Given the description of an element on the screen output the (x, y) to click on. 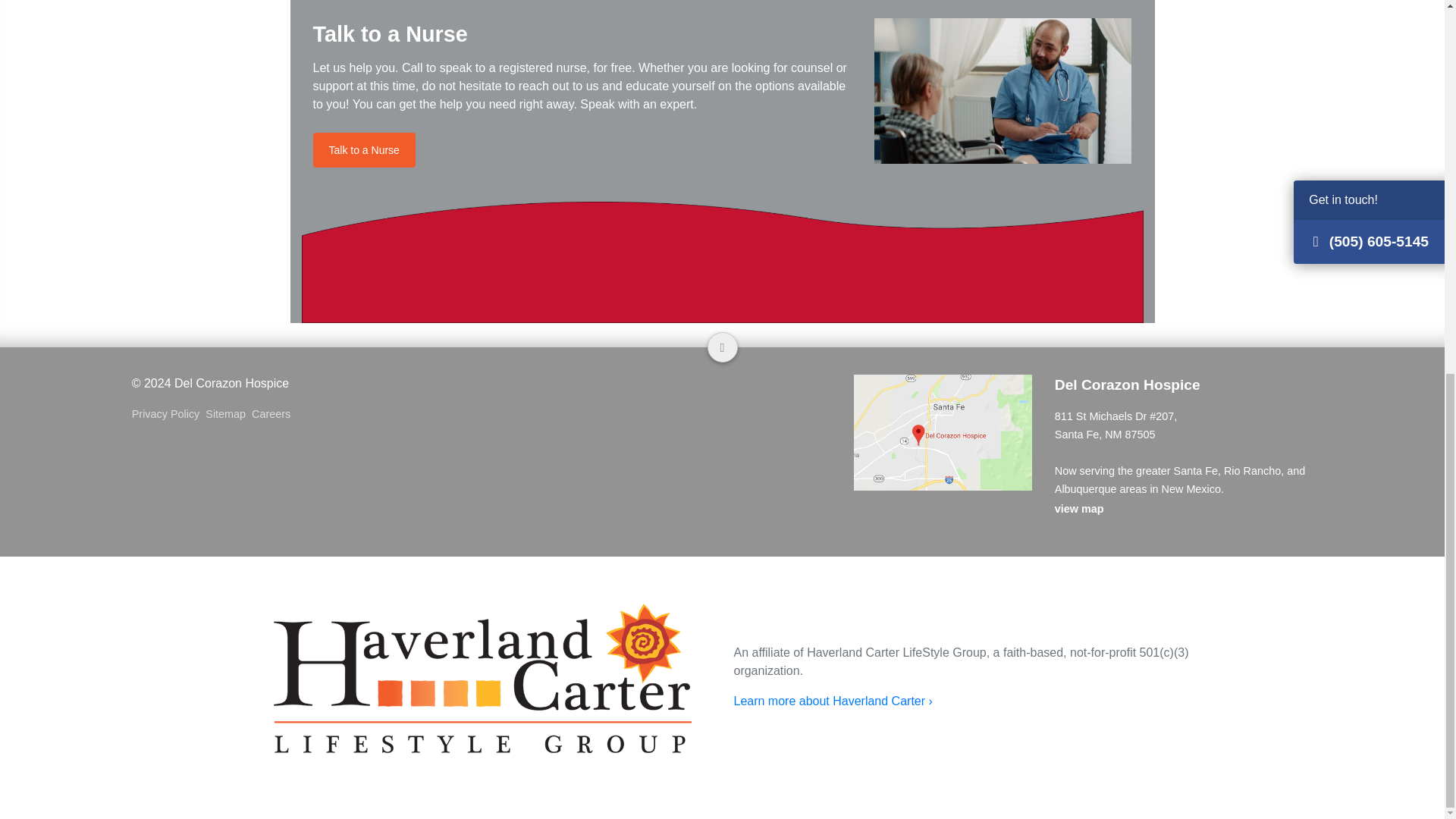
Talk to a Nurse (363, 149)
Scroll to Top (721, 347)
Sitemap (228, 413)
Privacy Policy (169, 413)
Talk to a Nurse (363, 149)
Wave (721, 261)
Careers (274, 413)
